Given the description of an element on the screen output the (x, y) to click on. 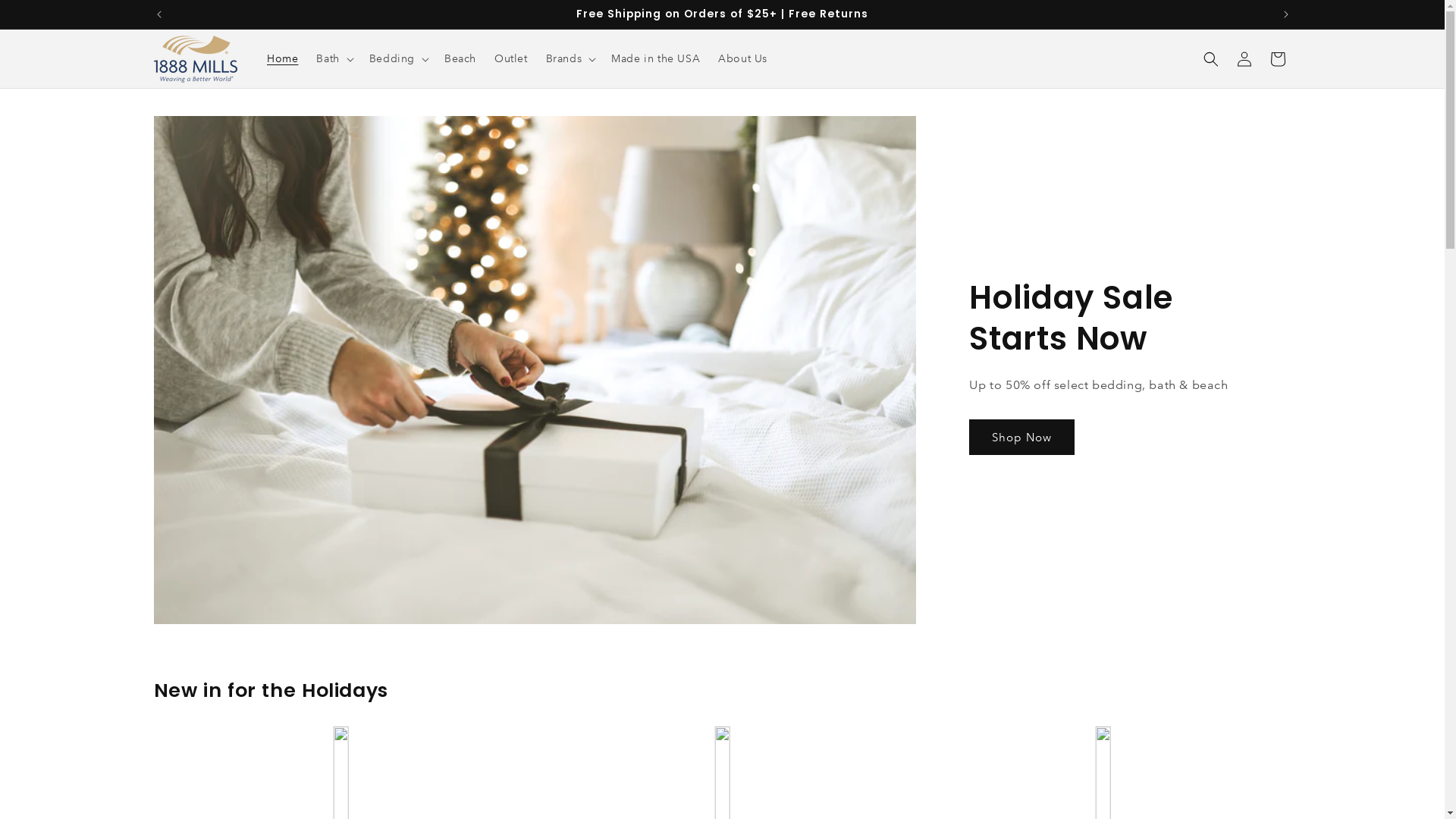
Beach Element type: text (460, 58)
About Us Element type: text (742, 58)
Log in Element type: text (1243, 58)
Made in the USA Element type: text (655, 58)
Outlet Element type: text (510, 58)
Home Element type: text (282, 58)
Cart Element type: text (1276, 58)
Shop Now Element type: text (1021, 437)
